Given the description of an element on the screen output the (x, y) to click on. 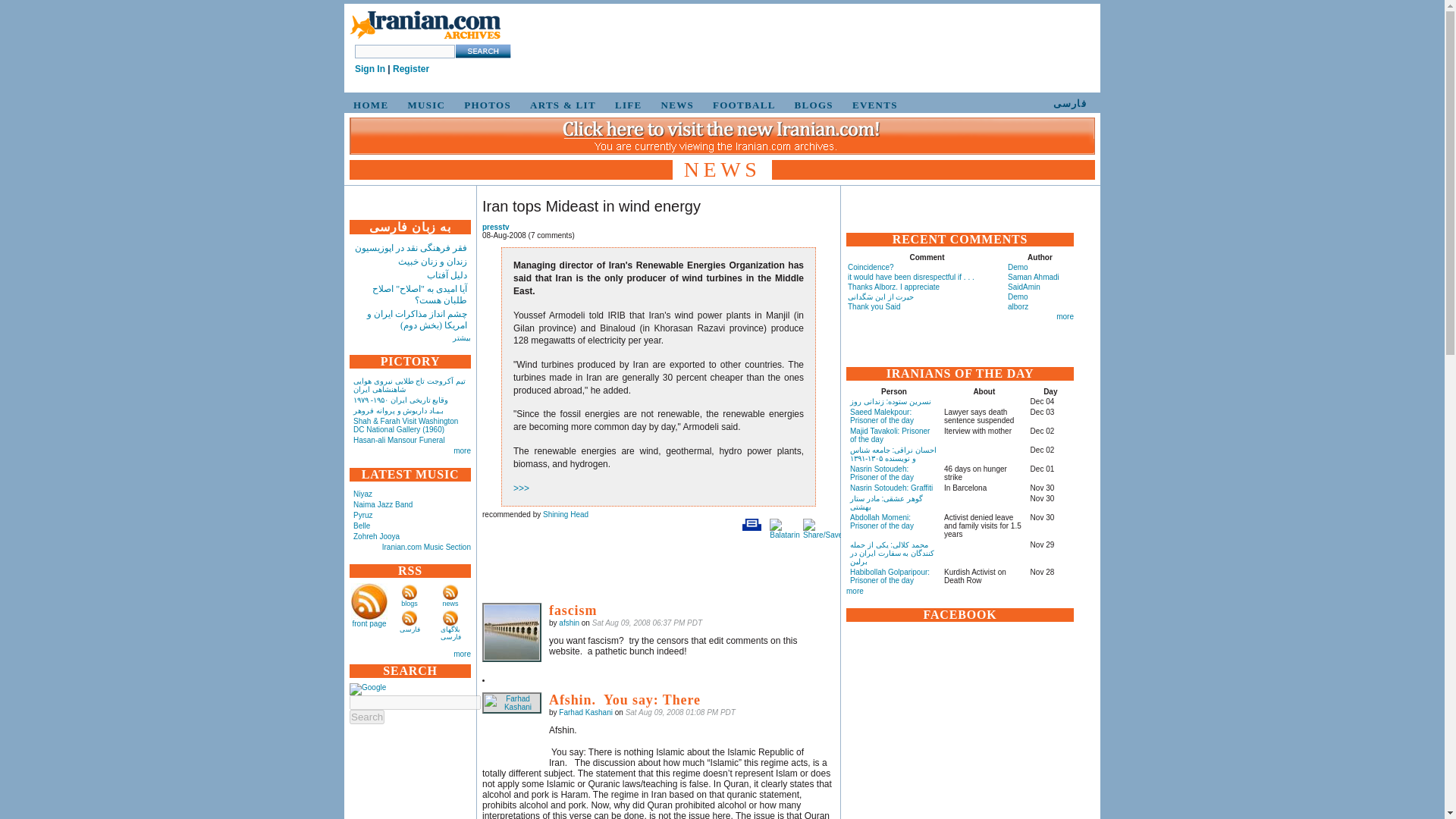
blogs (409, 603)
EVENTS (872, 105)
Sign In (370, 68)
BLOGS (812, 105)
NEWS (674, 105)
View user profile. (585, 712)
Niyaz (362, 493)
Search (366, 716)
Iranian.com Music Section (425, 546)
front page (368, 623)
